Given the description of an element on the screen output the (x, y) to click on. 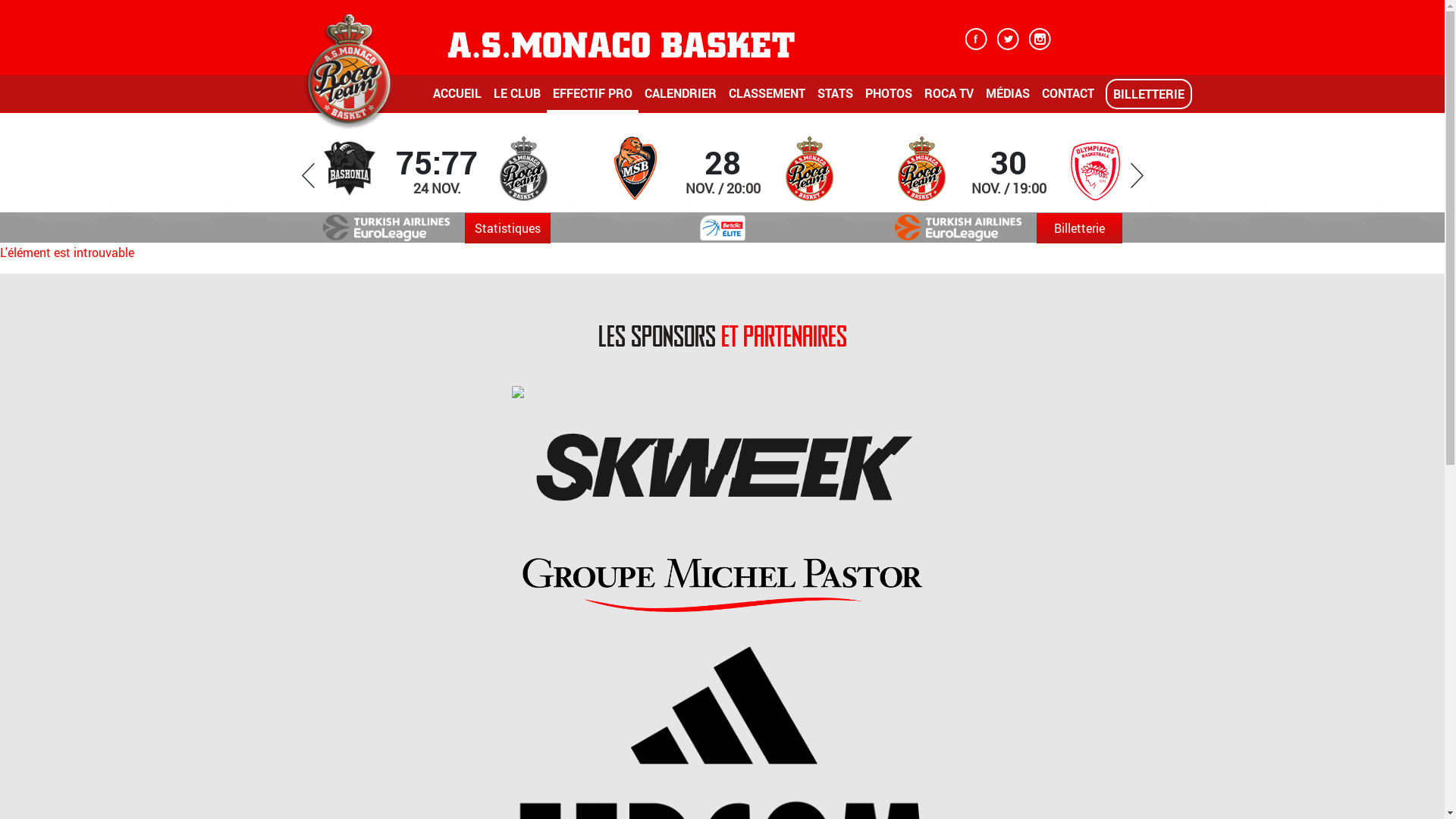
Billetterie Element type: text (1079, 227)
CLASSEMENT Element type: text (765, 97)
Previous Element type: text (307, 175)
LE CLUB Element type: text (516, 97)
AS Monaco Element type: hover (920, 168)
CONTACT Element type: text (1067, 97)
A.S.MONACO BASKET Element type: hover (620, 44)
AS Monaco Element type: hover (808, 168)
Baskonia Vitoria-Gasteiz Element type: hover (349, 169)
EFFECTIF PRO Element type: text (591, 97)
Olympiacos Piraeus Element type: hover (1094, 168)
Statistiques Element type: text (507, 227)
Next Element type: text (1135, 175)
CALENDRIER Element type: text (680, 97)
Turkish Airlines EuroLeague Element type: hover (957, 226)
STATS Element type: text (835, 97)
AS Monaco Element type: hover (522, 168)
BILLETTERIE Element type: text (1148, 93)
A.S. Monaco Element type: hover (348, 68)
ROCA TV Element type: text (948, 97)
Le Mans Element type: hover (635, 168)
PHOTOS Element type: text (887, 97)
ACCUEIL Element type: text (456, 97)
Turkish Airlines EuroLeague Element type: hover (386, 226)
